Given the description of an element on the screen output the (x, y) to click on. 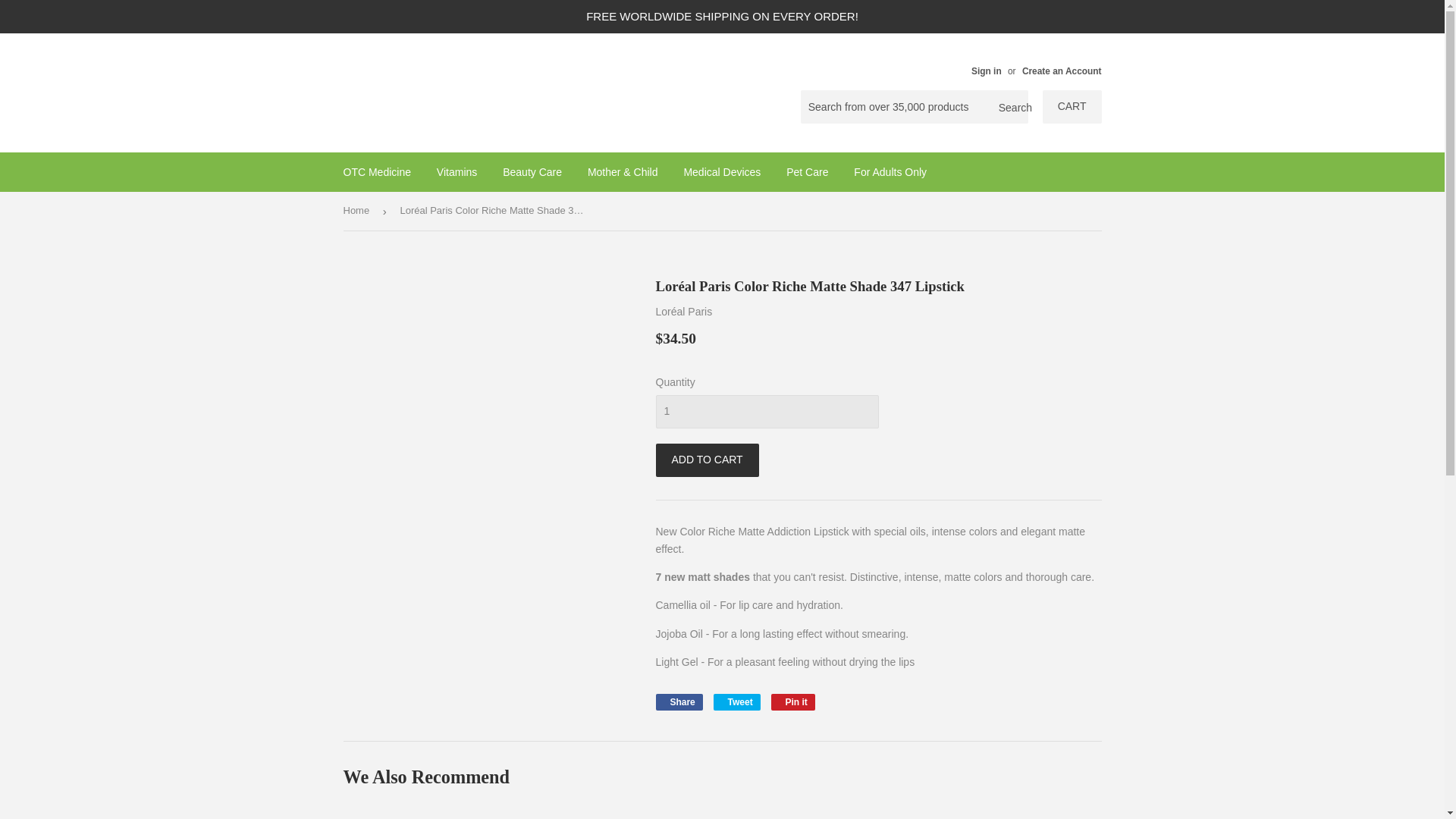
Sign in (986, 71)
1 (766, 411)
Pin on Pinterest (793, 701)
Share on Facebook (678, 701)
CART (1072, 106)
Create an Account (1062, 71)
OTC Medicine (376, 171)
Vitamins (456, 171)
Tweet on Twitter (736, 701)
Search (1010, 107)
